Given the description of an element on the screen output the (x, y) to click on. 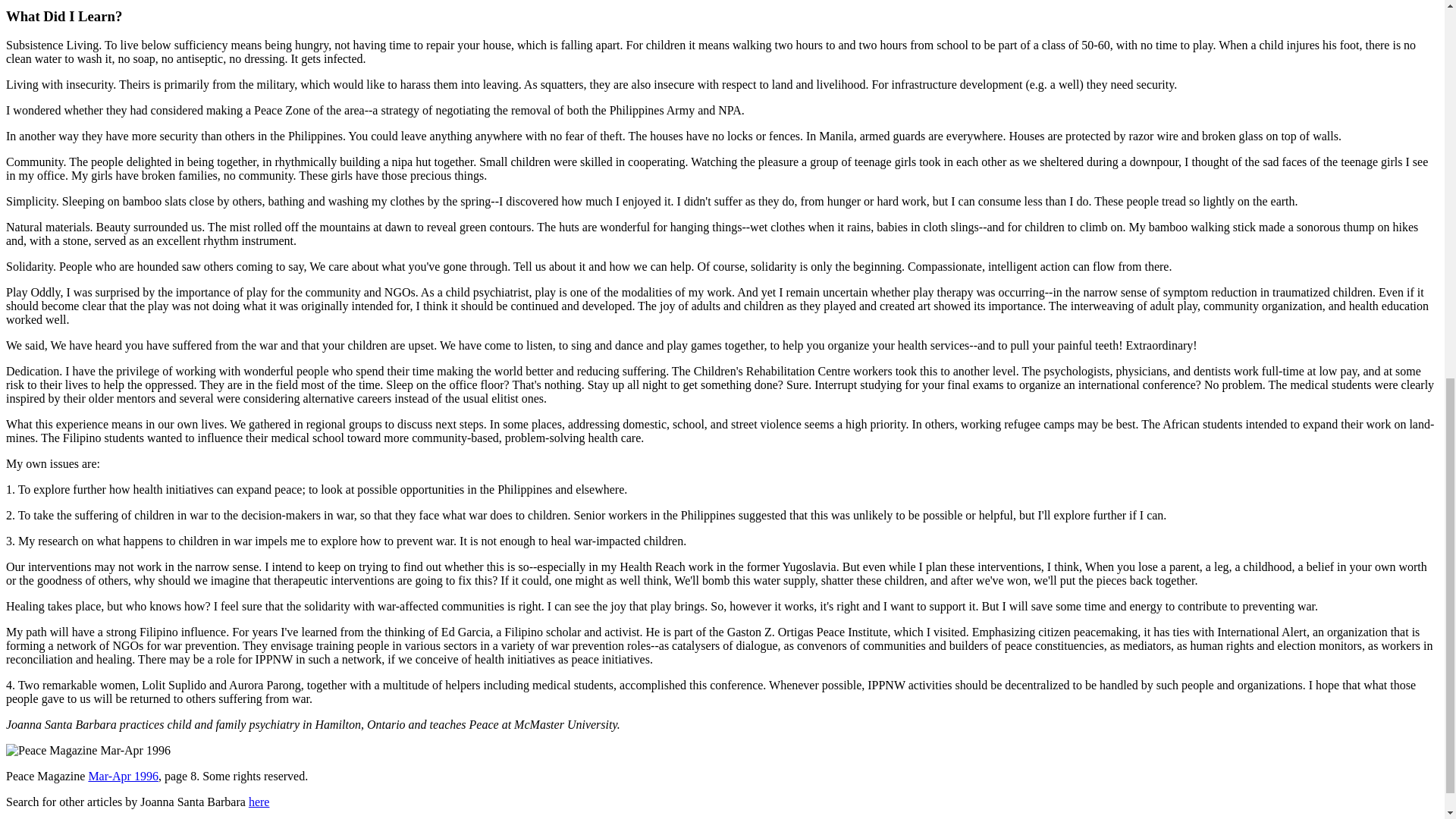
Mar-Apr 1996 (122, 775)
here (258, 801)
